Given the description of an element on the screen output the (x, y) to click on. 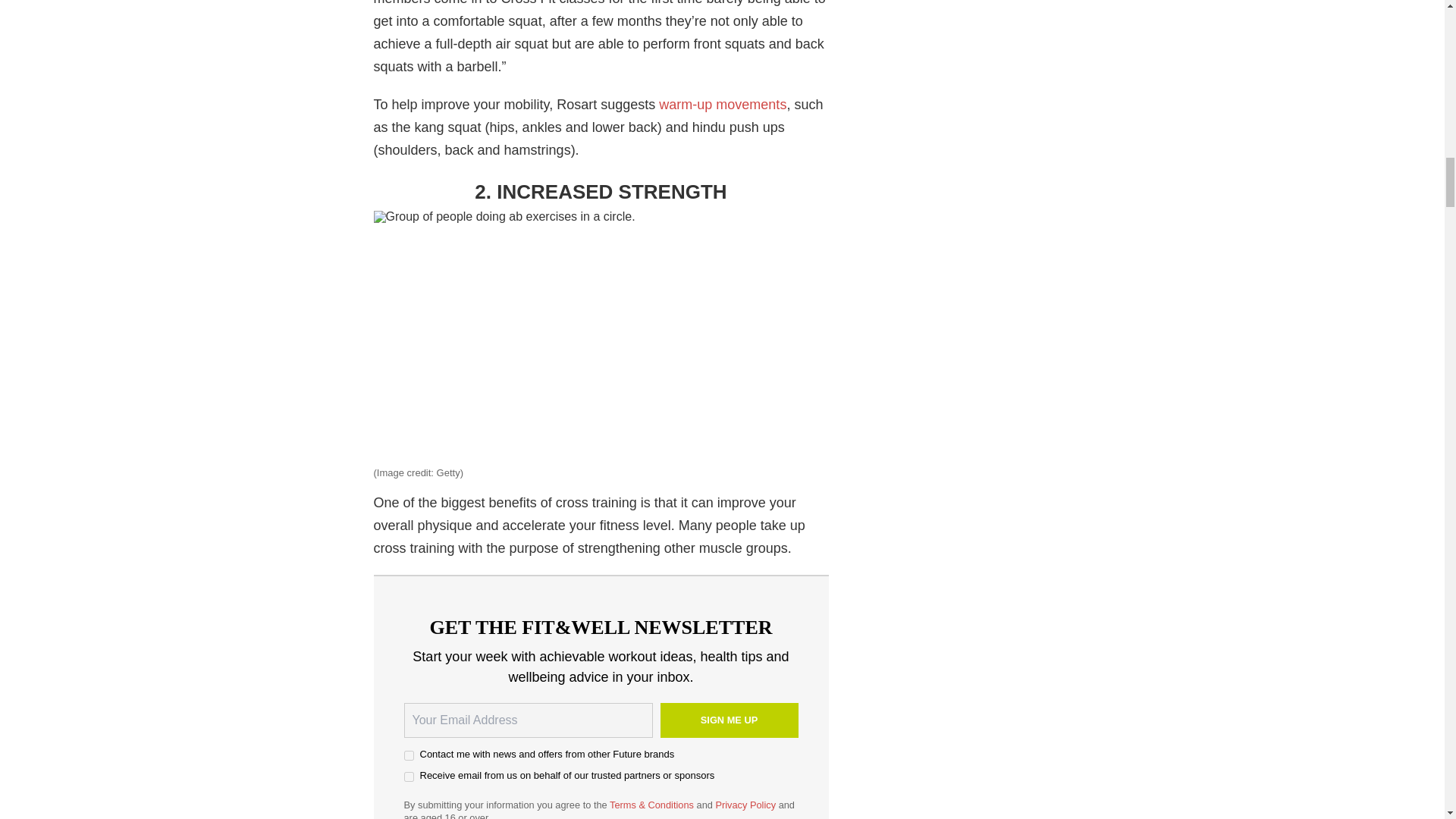
on (408, 777)
on (408, 755)
Sign me up (728, 719)
